Given the description of an element on the screen output the (x, y) to click on. 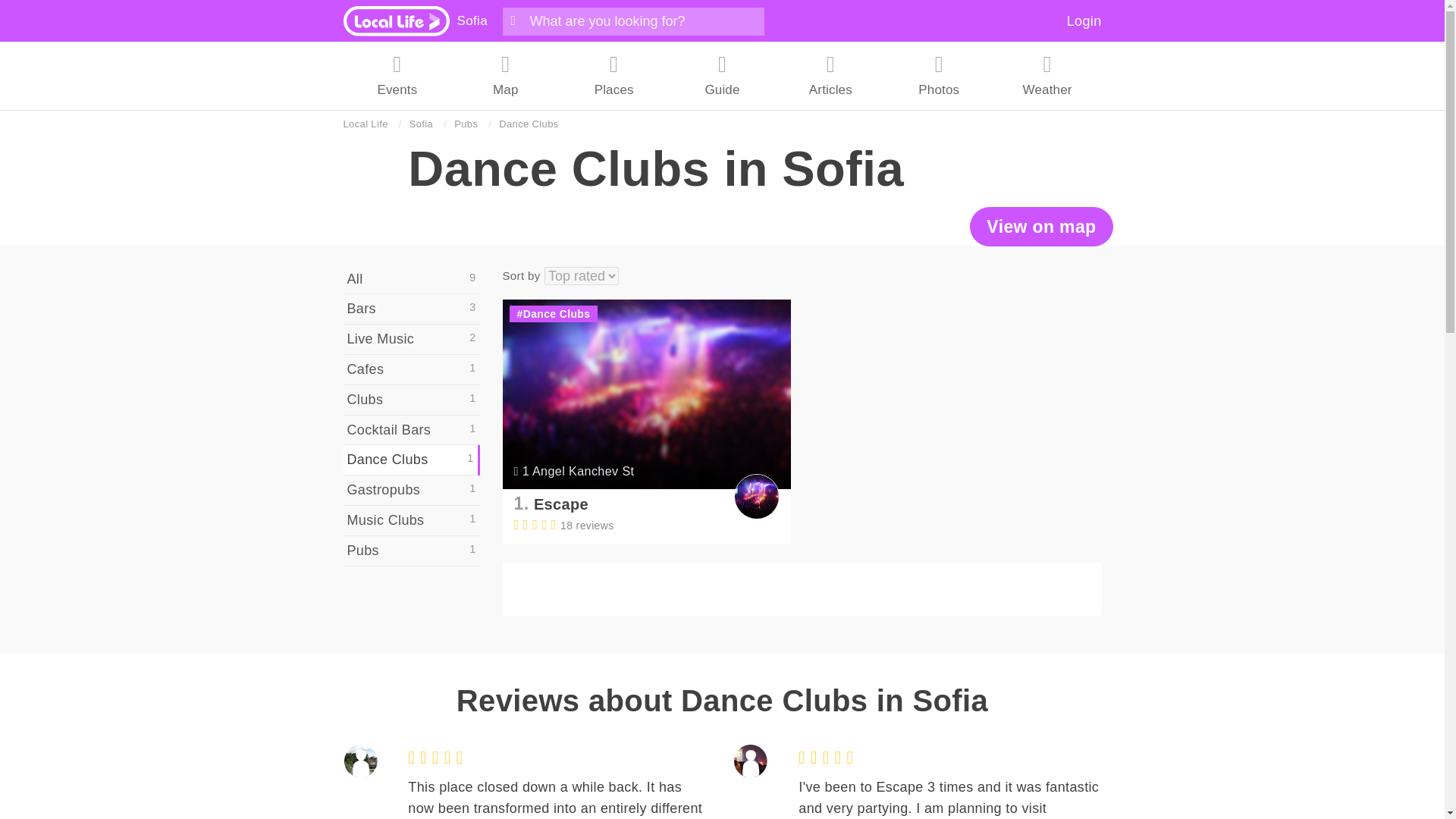
Did we miss a place? add it... (801, 587)
Map (505, 75)
All (410, 279)
Local Life (364, 124)
Sofia (472, 20)
Clubs (410, 399)
Music Clubs (410, 521)
Bars (410, 309)
Weather (1047, 75)
Photos (938, 75)
Gastropubs (410, 490)
Pubs (465, 124)
Escape (561, 504)
Guide (721, 75)
Articles (830, 75)
